Given the description of an element on the screen output the (x, y) to click on. 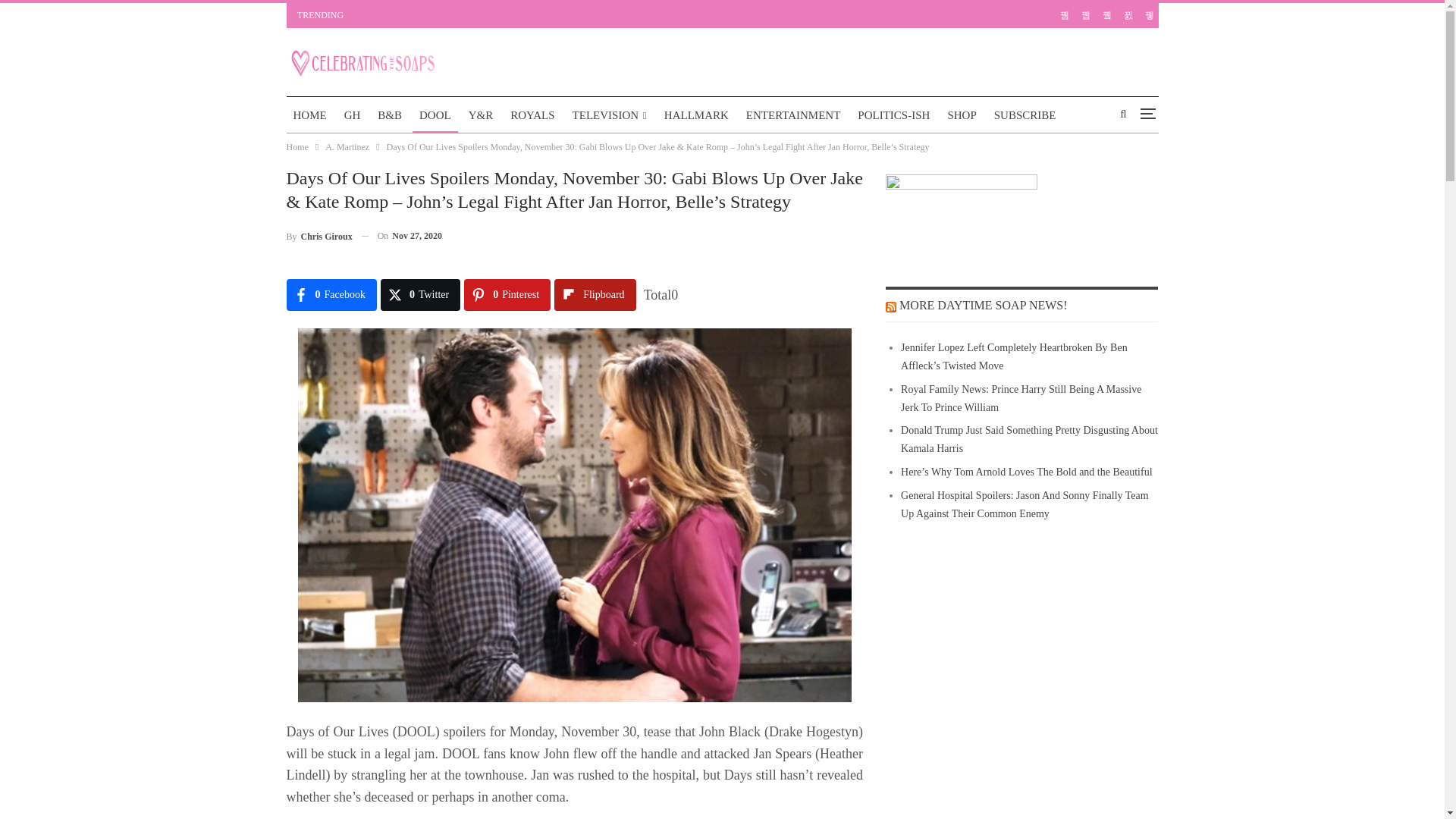
SHOP (961, 115)
Share on Pinterest (507, 295)
Share on Flipboard (594, 295)
ROYALS (531, 115)
Home (297, 146)
HOME (309, 115)
ENTERTAINMENT (793, 115)
By Chris Giroux (319, 236)
Browse Author Articles (319, 236)
HALLMARK (696, 115)
